Given the description of an element on the screen output the (x, y) to click on. 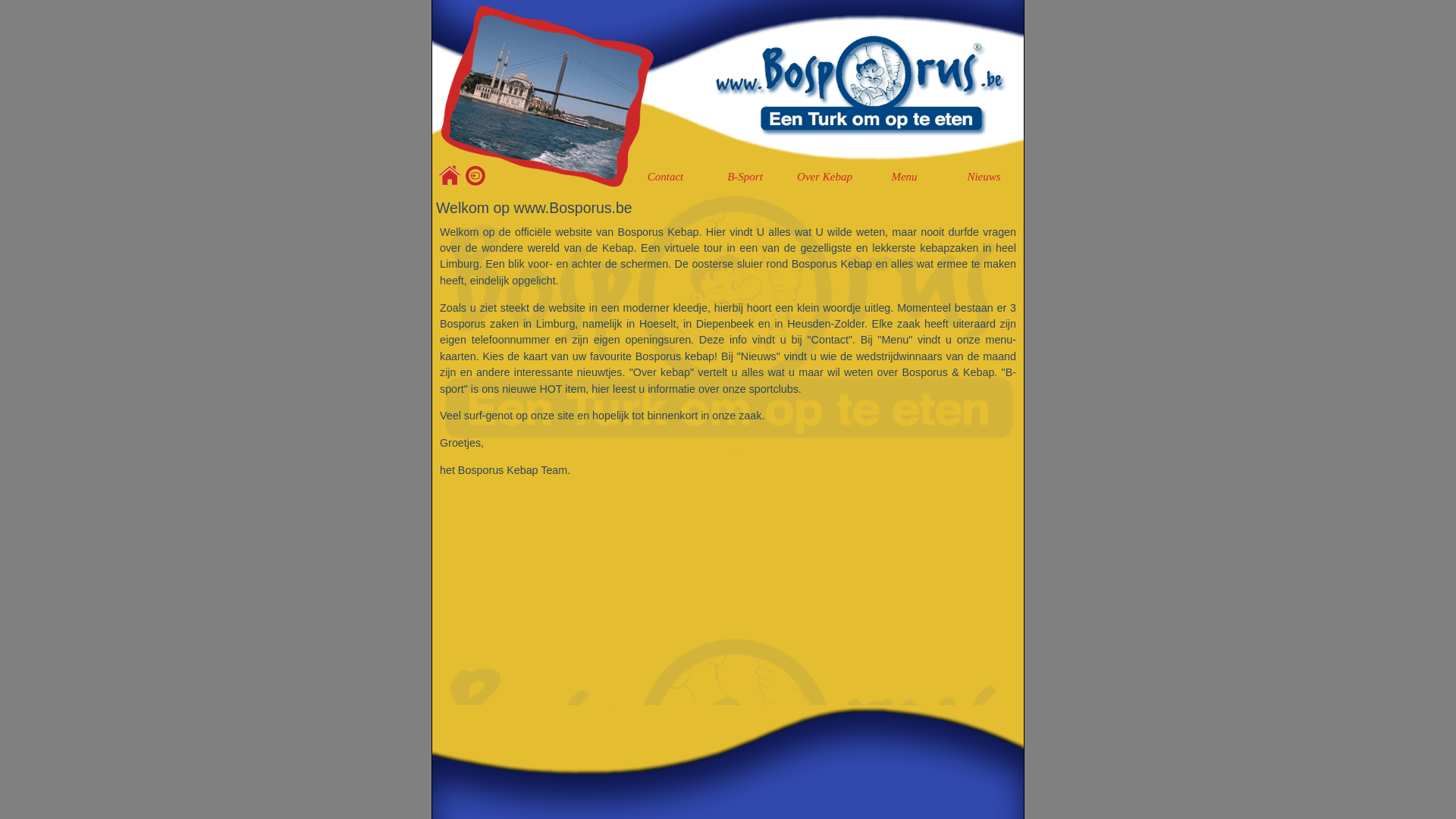
Over Kebap Element type: text (824, 177)
Menu Element type: text (903, 177)
Nieuws Element type: text (983, 177)
Contact Element type: text (664, 177)
B-Sport Element type: text (744, 177)
